Given the description of an element on the screen output the (x, y) to click on. 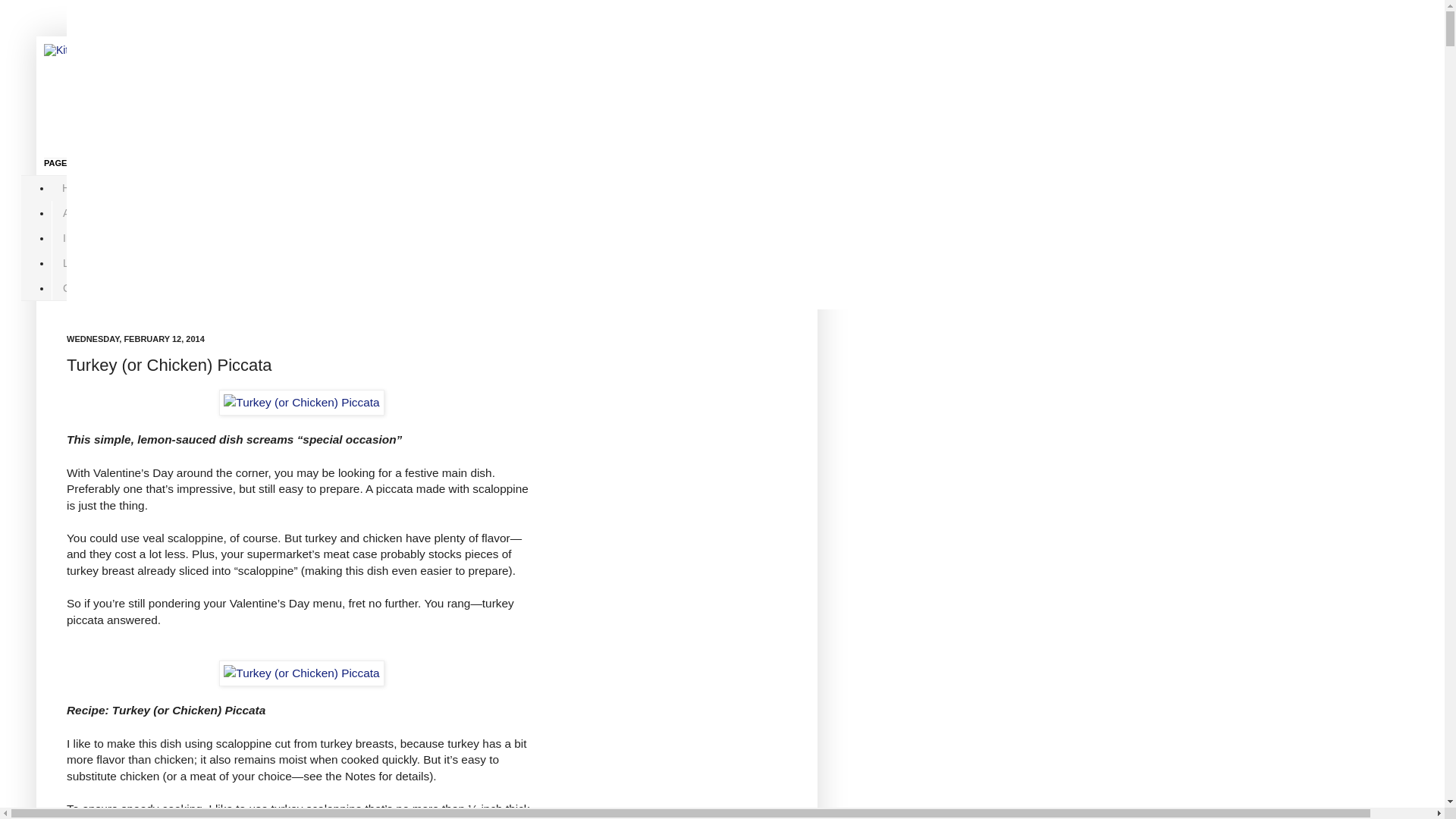
Home (75, 188)
Index (75, 238)
Links (74, 262)
About (75, 213)
Contact (80, 287)
